Given the description of an element on the screen output the (x, y) to click on. 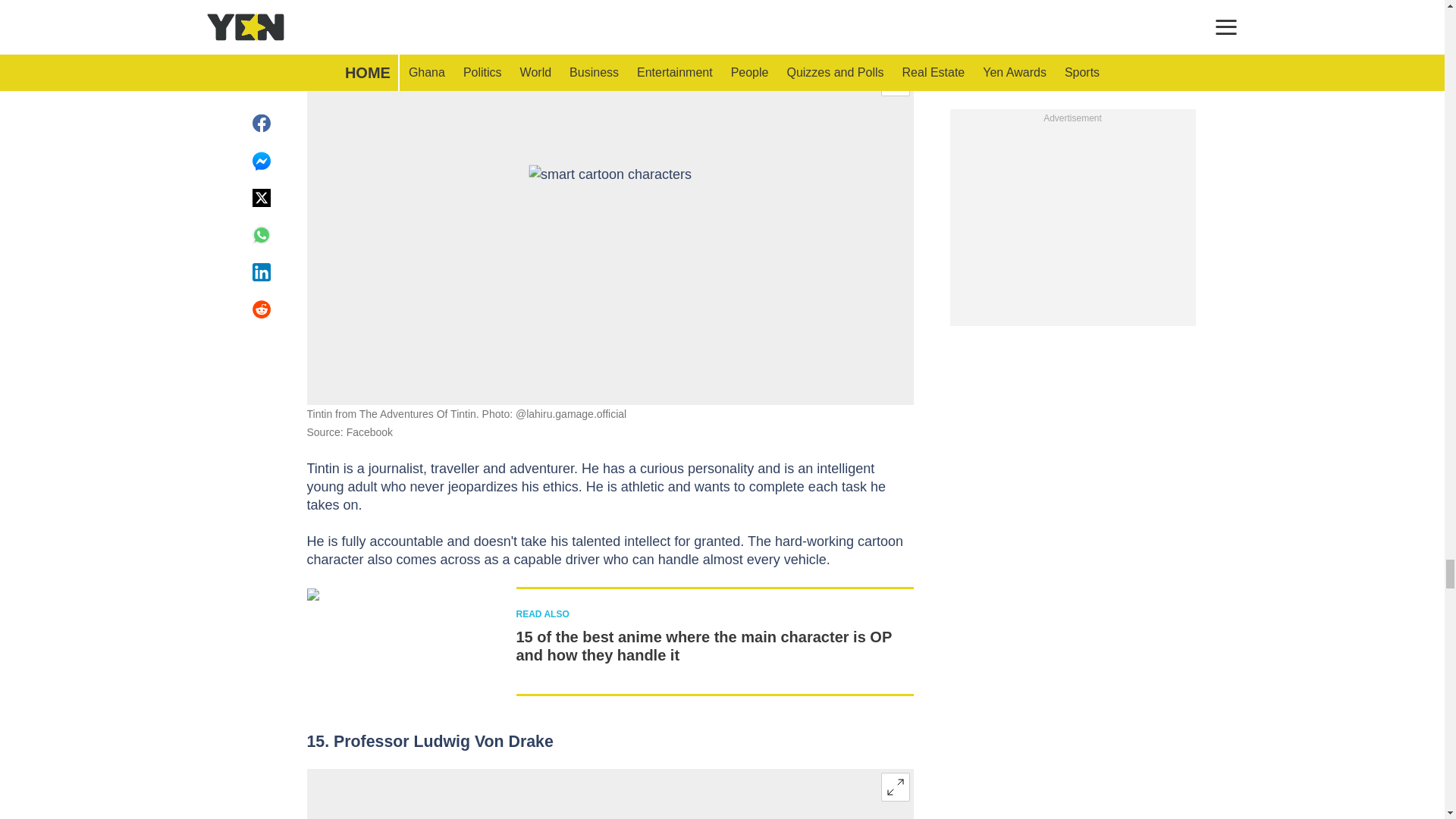
Expand image (895, 787)
Expand image (895, 81)
smart cartoon characters (609, 233)
